Given the description of an element on the screen output the (x, y) to click on. 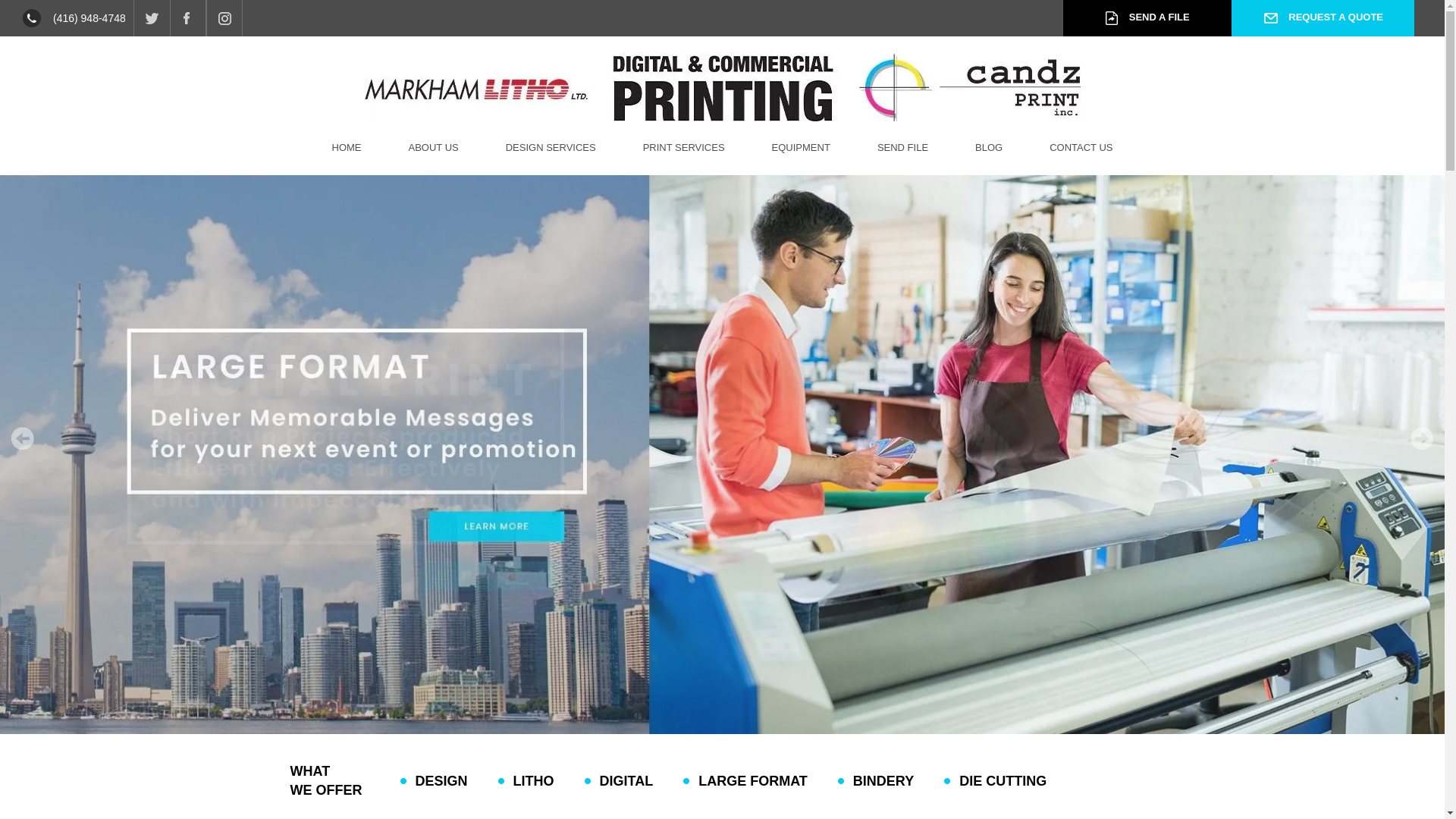
instagram (224, 18)
PRINT SERVICES (683, 147)
CONTACT US (1080, 147)
Instagram (224, 18)
SEND FILE (902, 147)
EQUIPMENT (801, 147)
Prev (22, 437)
Twitter (151, 18)
Next (1421, 437)
twitter (151, 18)
Send a file (1146, 18)
Request a quote (1322, 18)
DESIGN SERVICES (550, 147)
Facebook (188, 18)
facebook (188, 18)
